Given the description of an element on the screen output the (x, y) to click on. 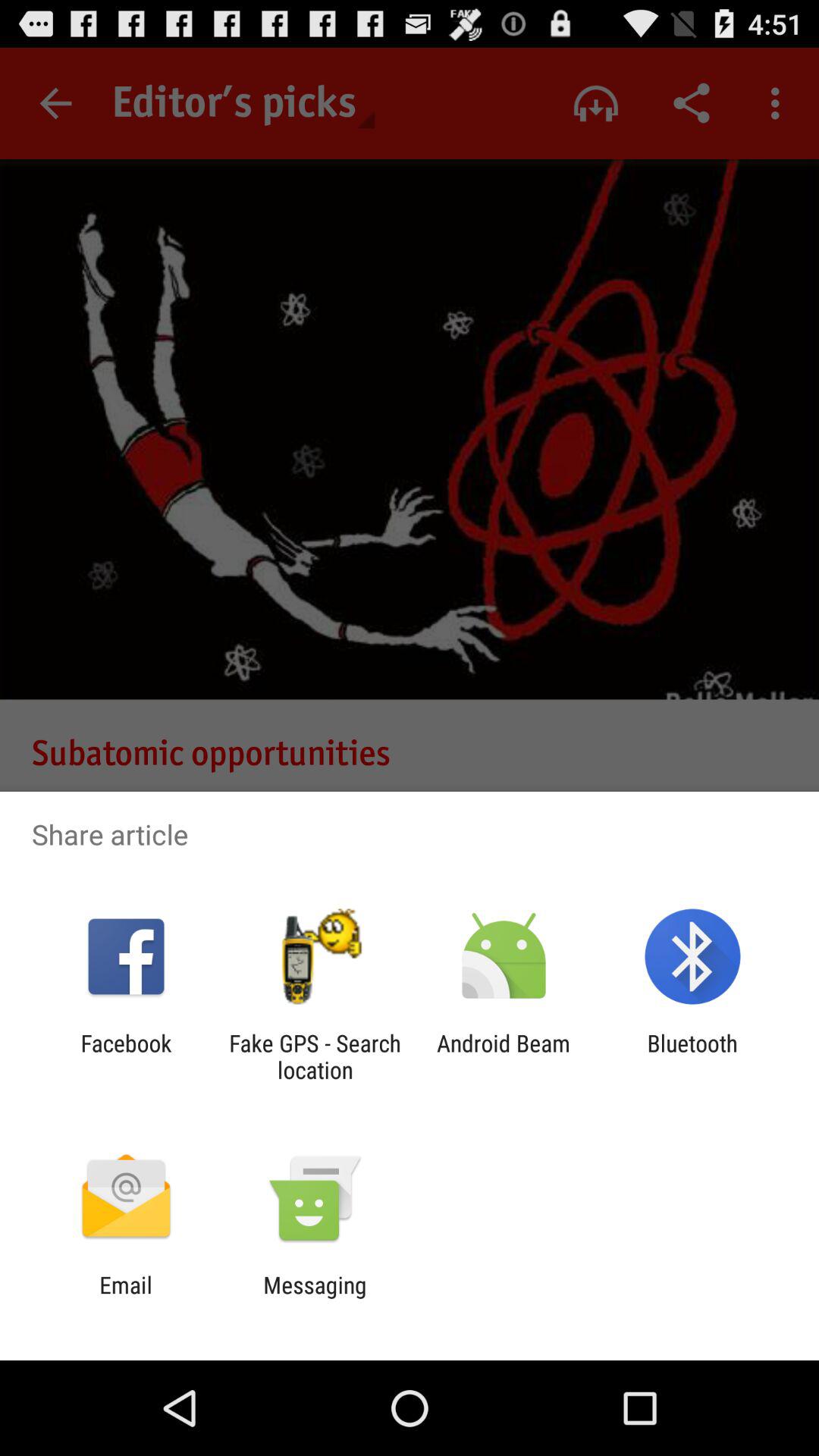
swipe to bluetooth icon (692, 1056)
